Given the description of an element on the screen output the (x, y) to click on. 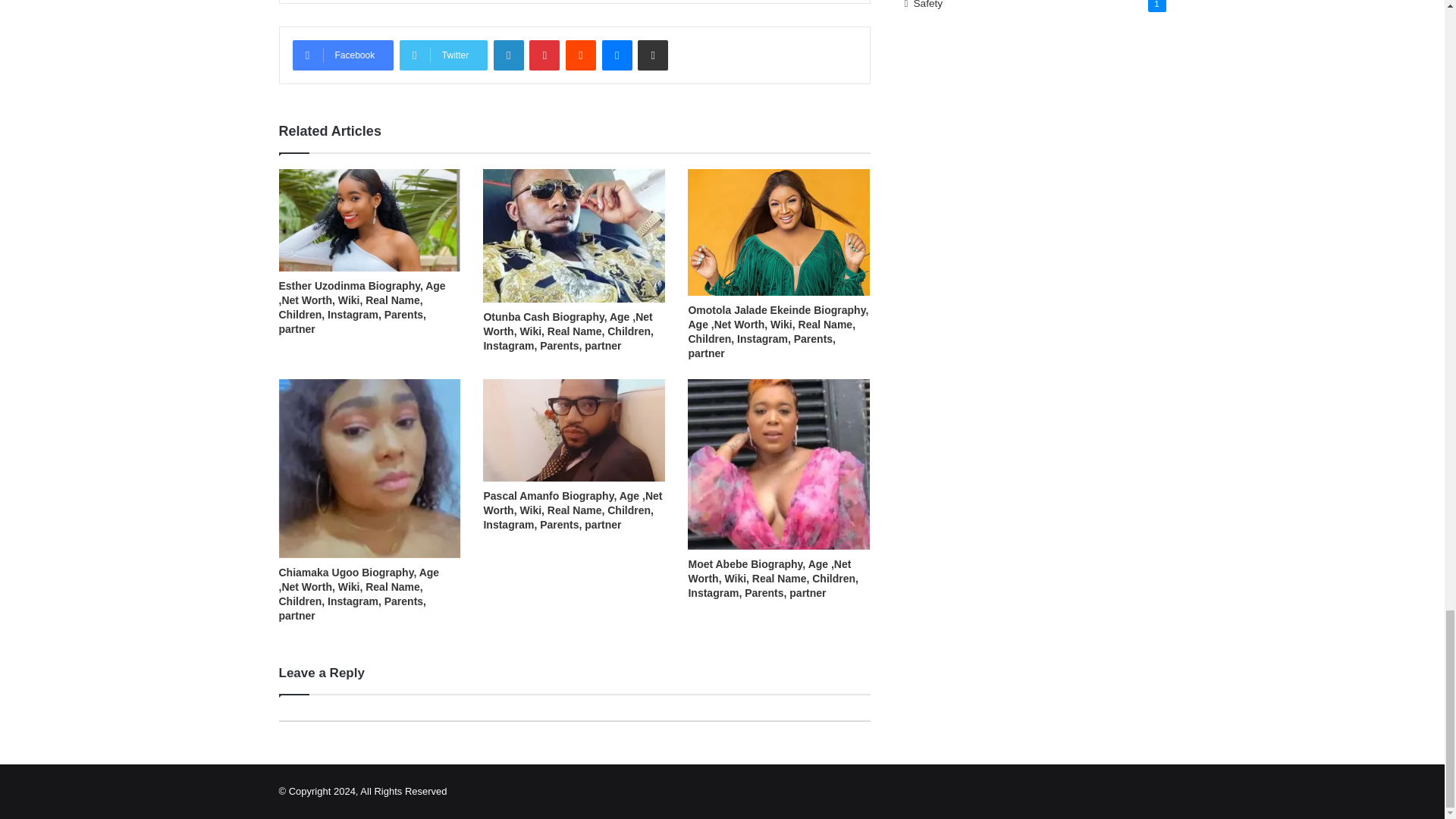
Reddit (580, 55)
Messenger (616, 55)
LinkedIn (508, 55)
LinkedIn (508, 55)
Twitter (442, 55)
Facebook (343, 55)
Twitter (442, 55)
Facebook (343, 55)
Share via Email (652, 55)
